Given the description of an element on the screen output the (x, y) to click on. 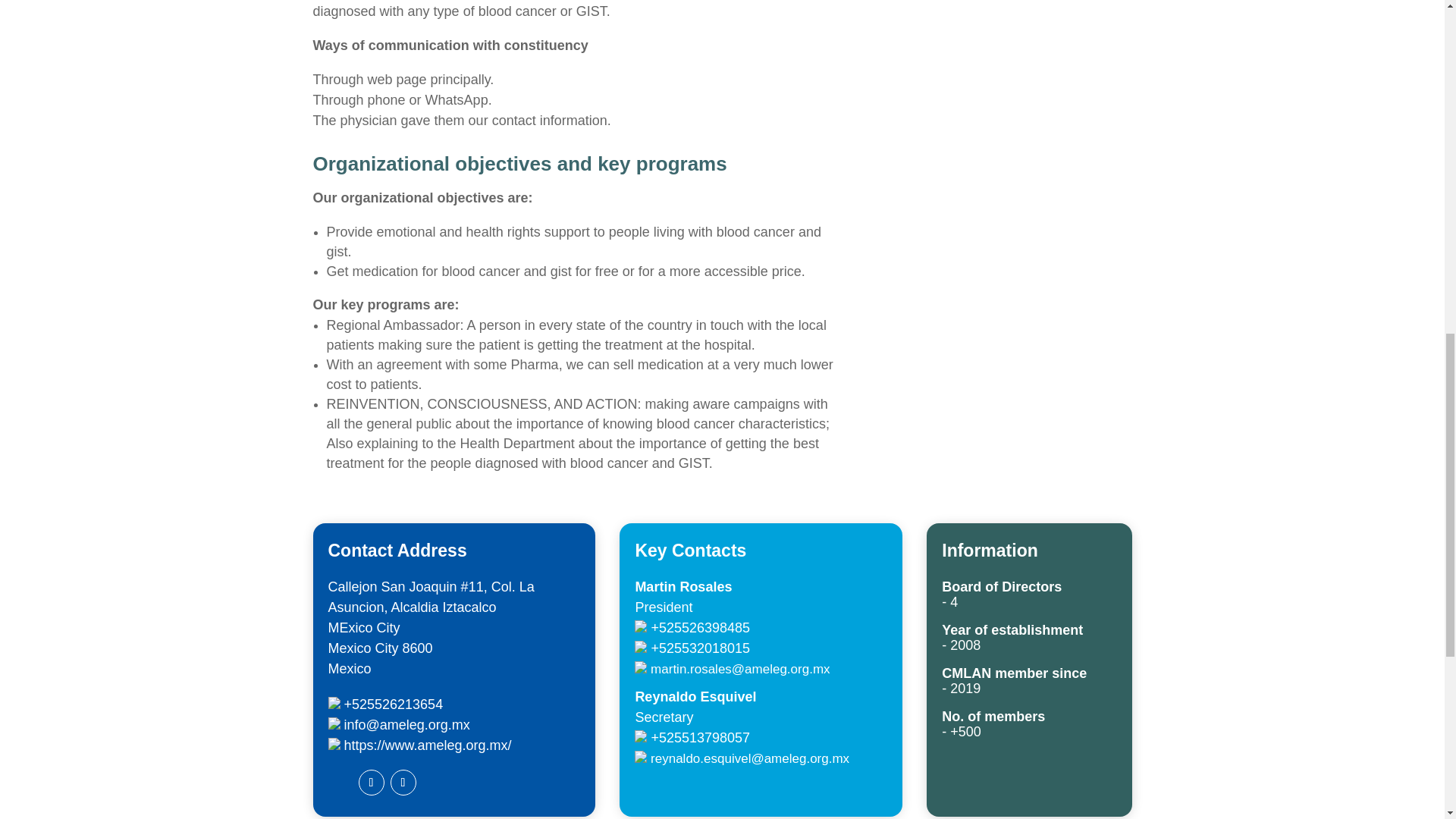
Follow on Instagram (402, 782)
Follow on Twitter (339, 782)
Follow on Facebook (371, 782)
